Given the description of an element on the screen output the (x, y) to click on. 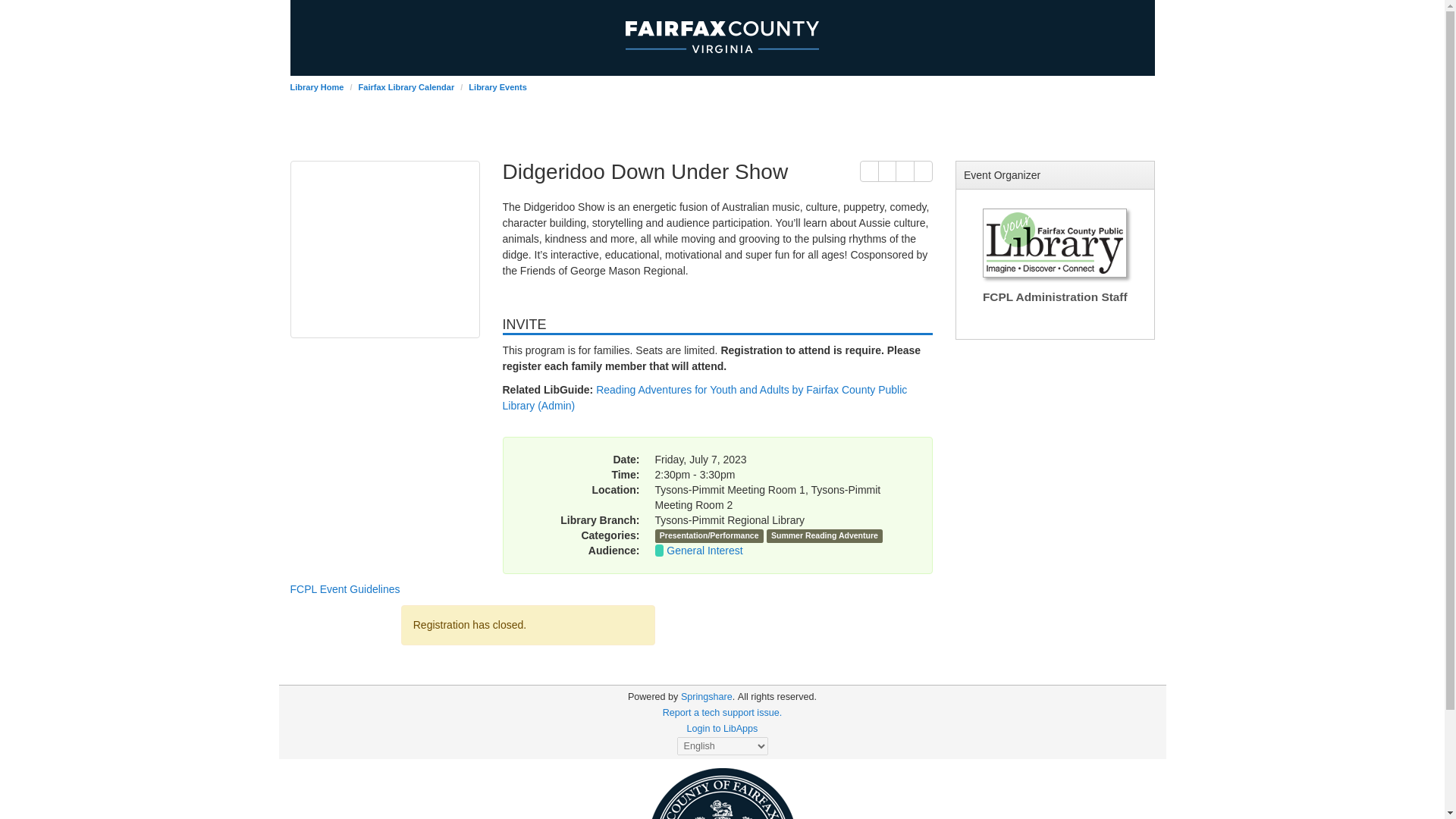
Springshare (706, 696)
Print the page (869, 170)
FCPL Event Guidelines (343, 589)
Library Events (496, 86)
Print page (869, 170)
Share page on Twitter (923, 170)
General Interest (704, 550)
Share on Twitter (923, 170)
Add to Calendar using iCal (886, 170)
Share on Facebook (904, 170)
Add to a Calendar using iCal (886, 170)
libcal-us-1 (652, 696)
Report a tech support issue. (722, 712)
Library Home (316, 86)
Share page on Facebook (904, 170)
